Given the description of an element on the screen output the (x, y) to click on. 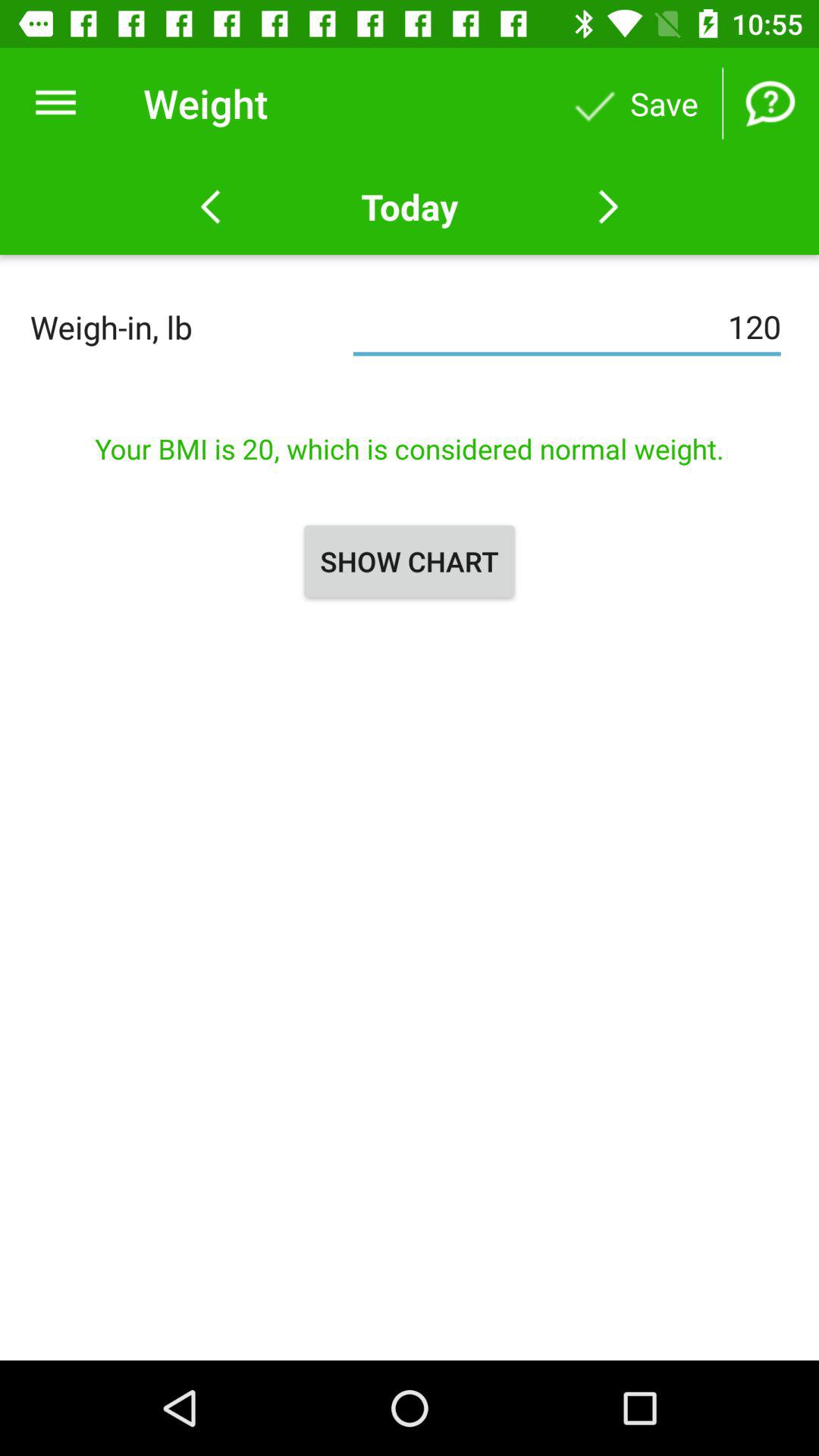
turn off the 120 (566, 326)
